Given the description of an element on the screen output the (x, y) to click on. 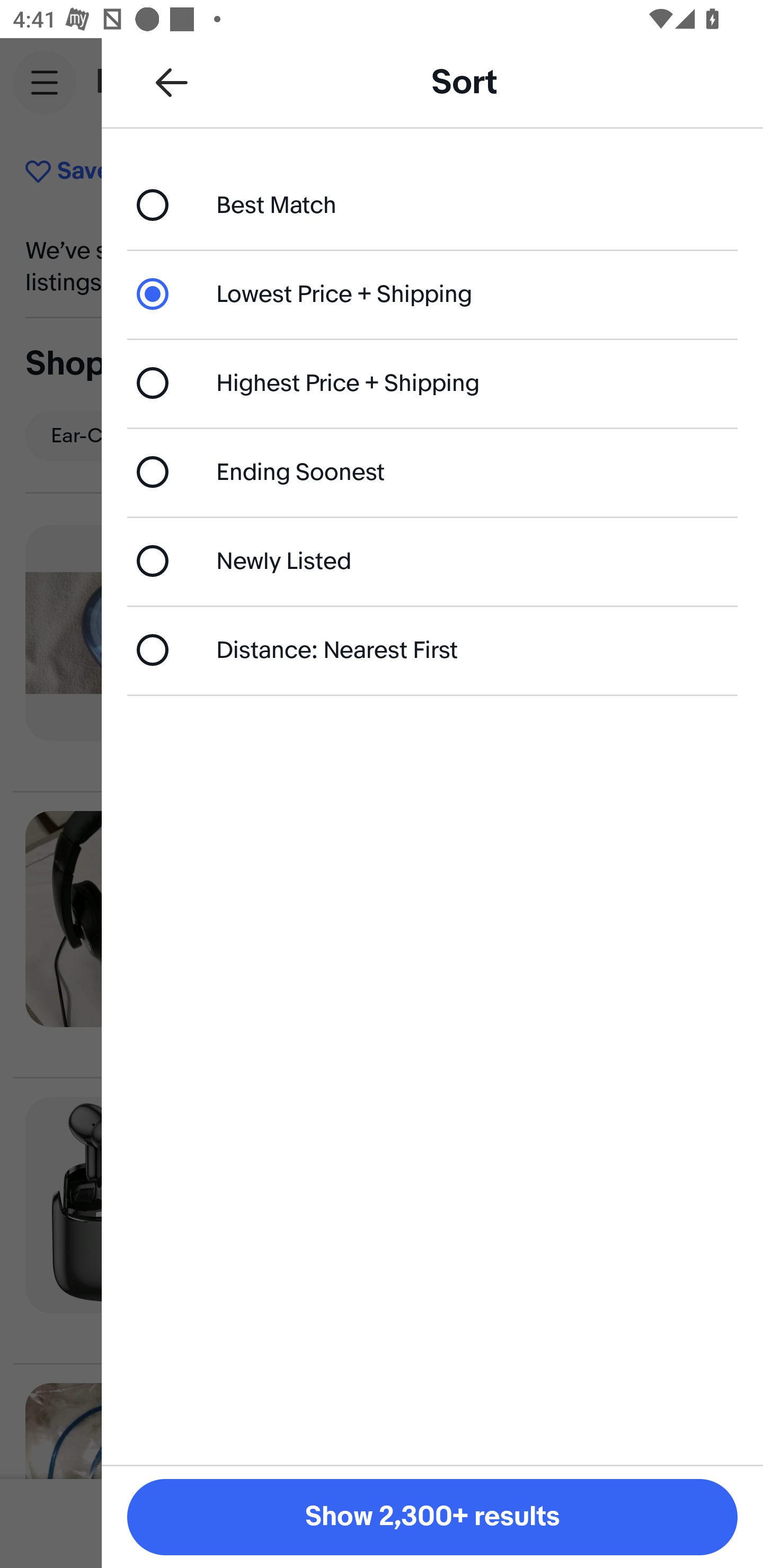
Back to all refinements (171, 81)
Best Match (432, 204)
Highest Price + Shipping (432, 383)
Ending Soonest (432, 471)
Newly Listed (432, 560)
Distance: Nearest First (432, 649)
Show 2,300+ results (432, 1516)
